Given the description of an element on the screen output the (x, y) to click on. 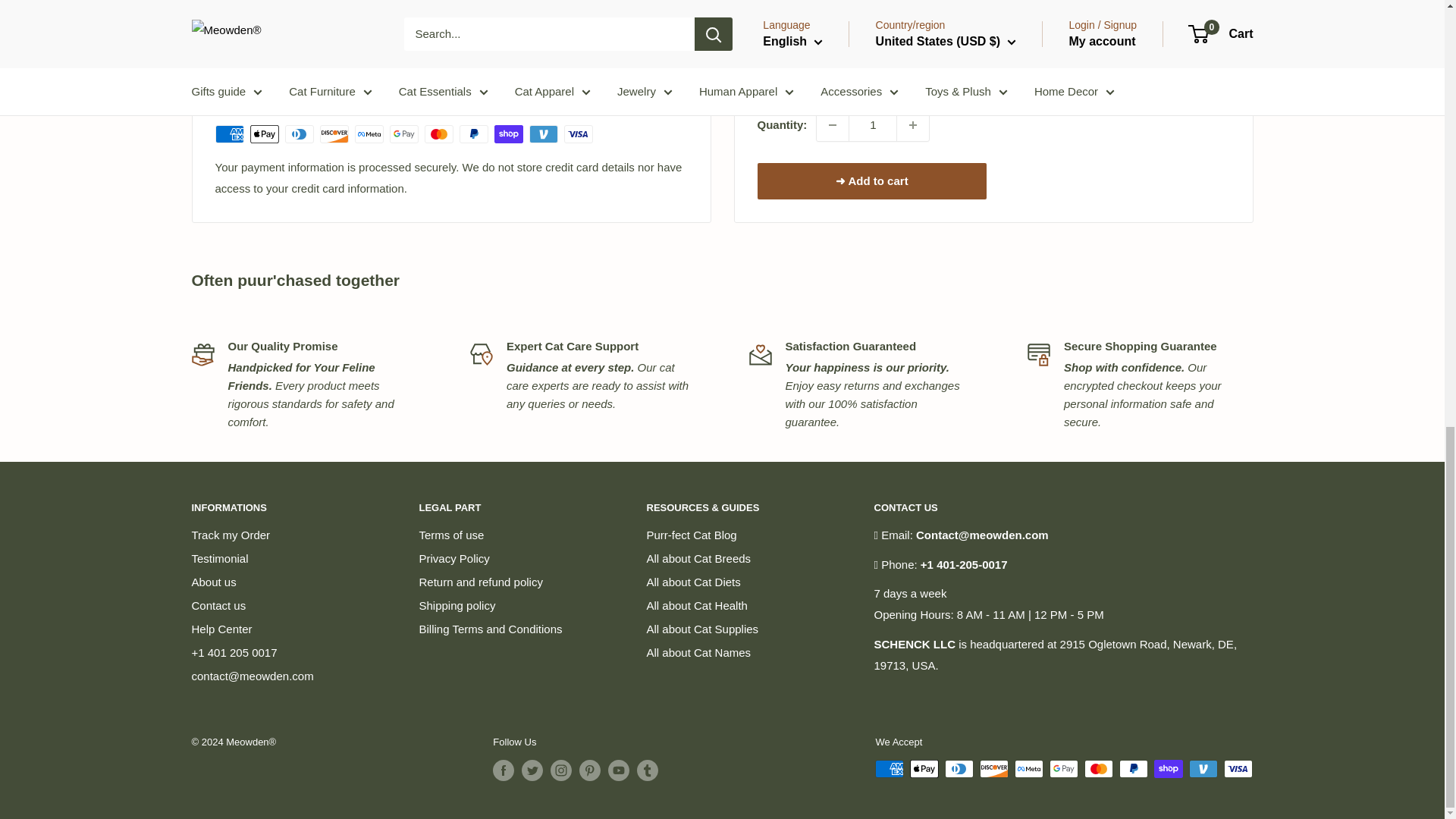
1 (872, 14)
